Given the description of an element on the screen output the (x, y) to click on. 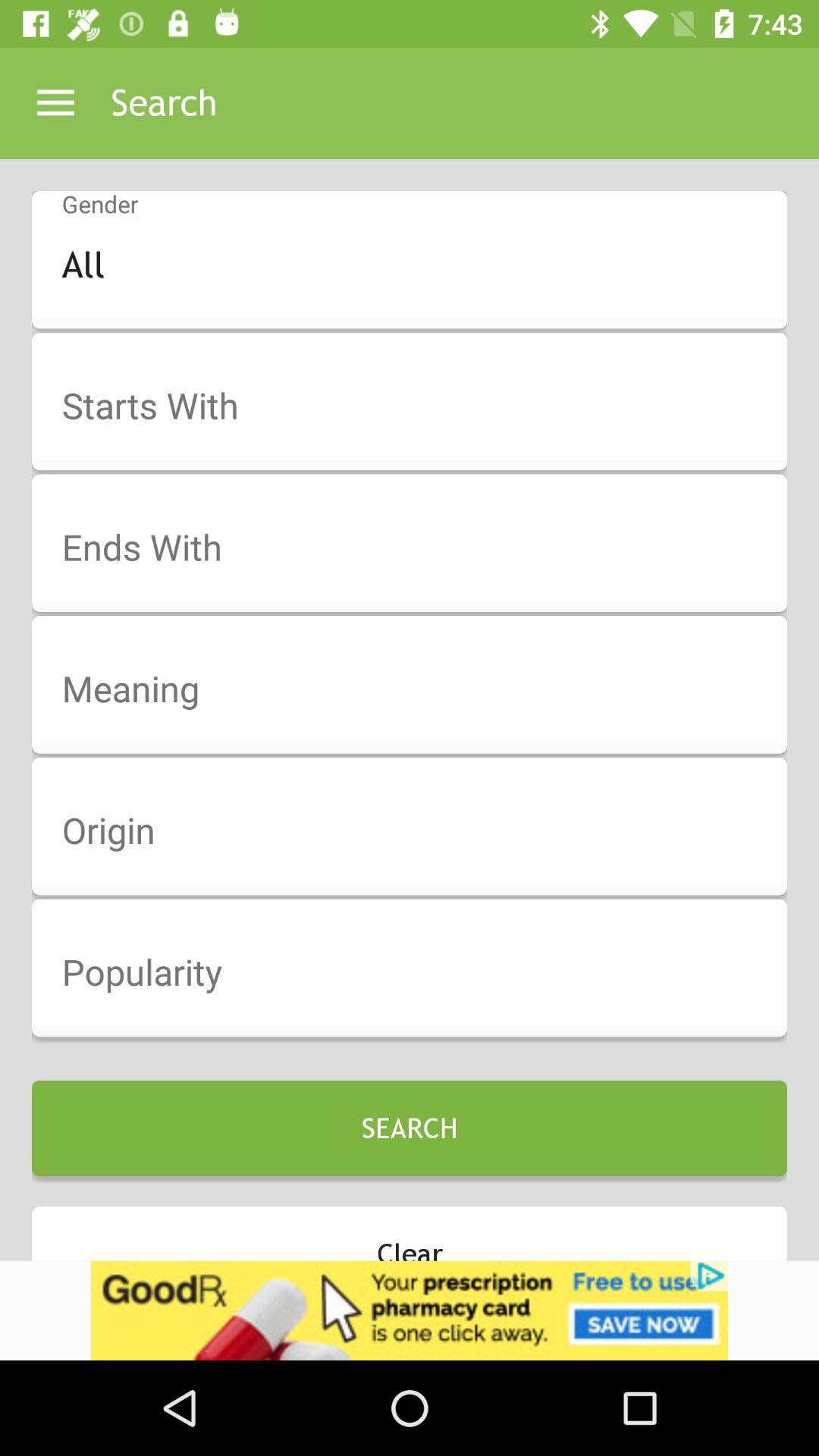
go to staets with box (419, 406)
